Given the description of an element on the screen output the (x, y) to click on. 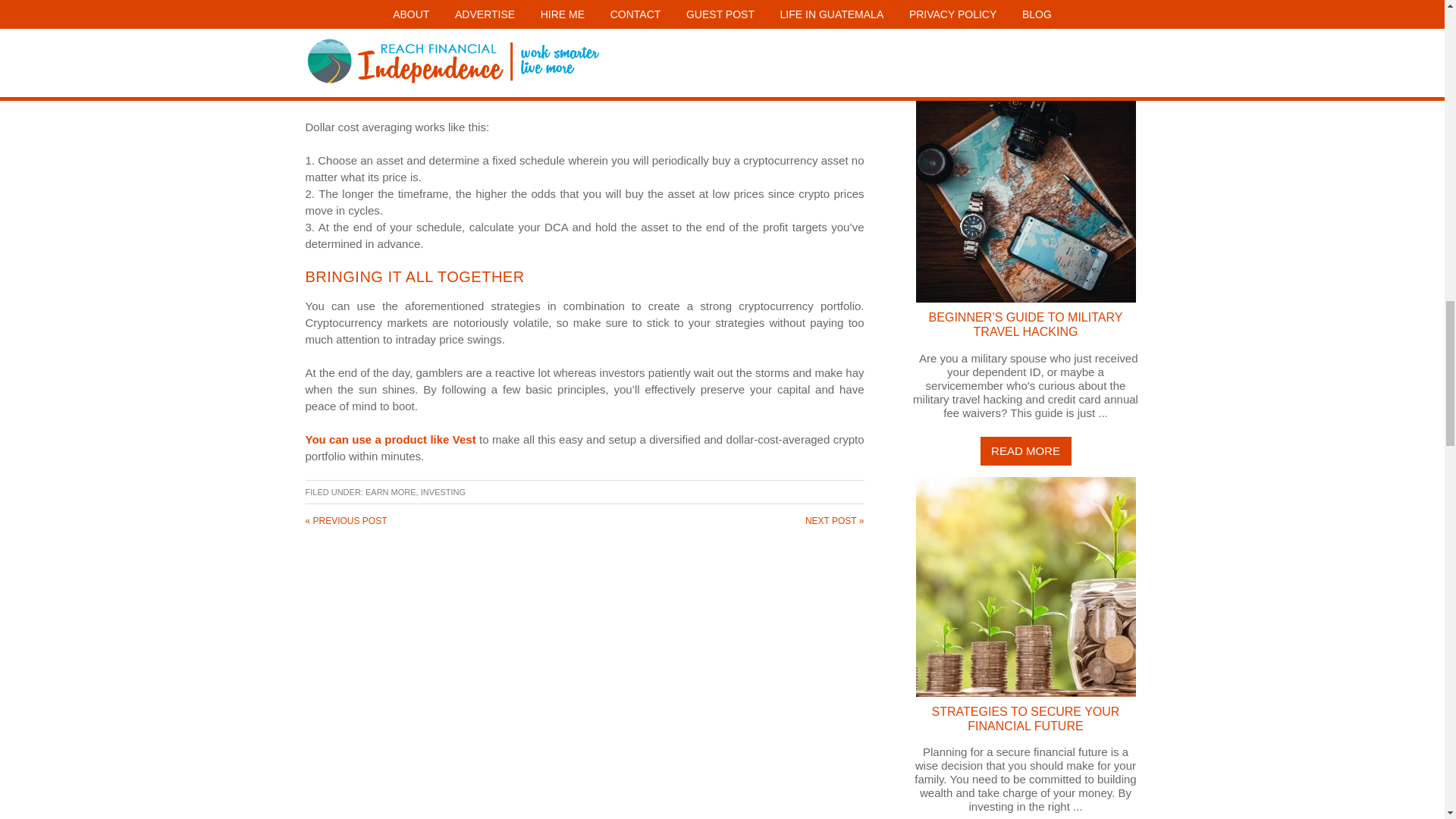
Strategies to Secure Your Financial Future (1024, 585)
INVESTING (442, 491)
Strategies to Secure Your Financial Future (1025, 718)
You can use a product like Vest (390, 439)
EARN MORE (390, 491)
